Given the description of an element on the screen output the (x, y) to click on. 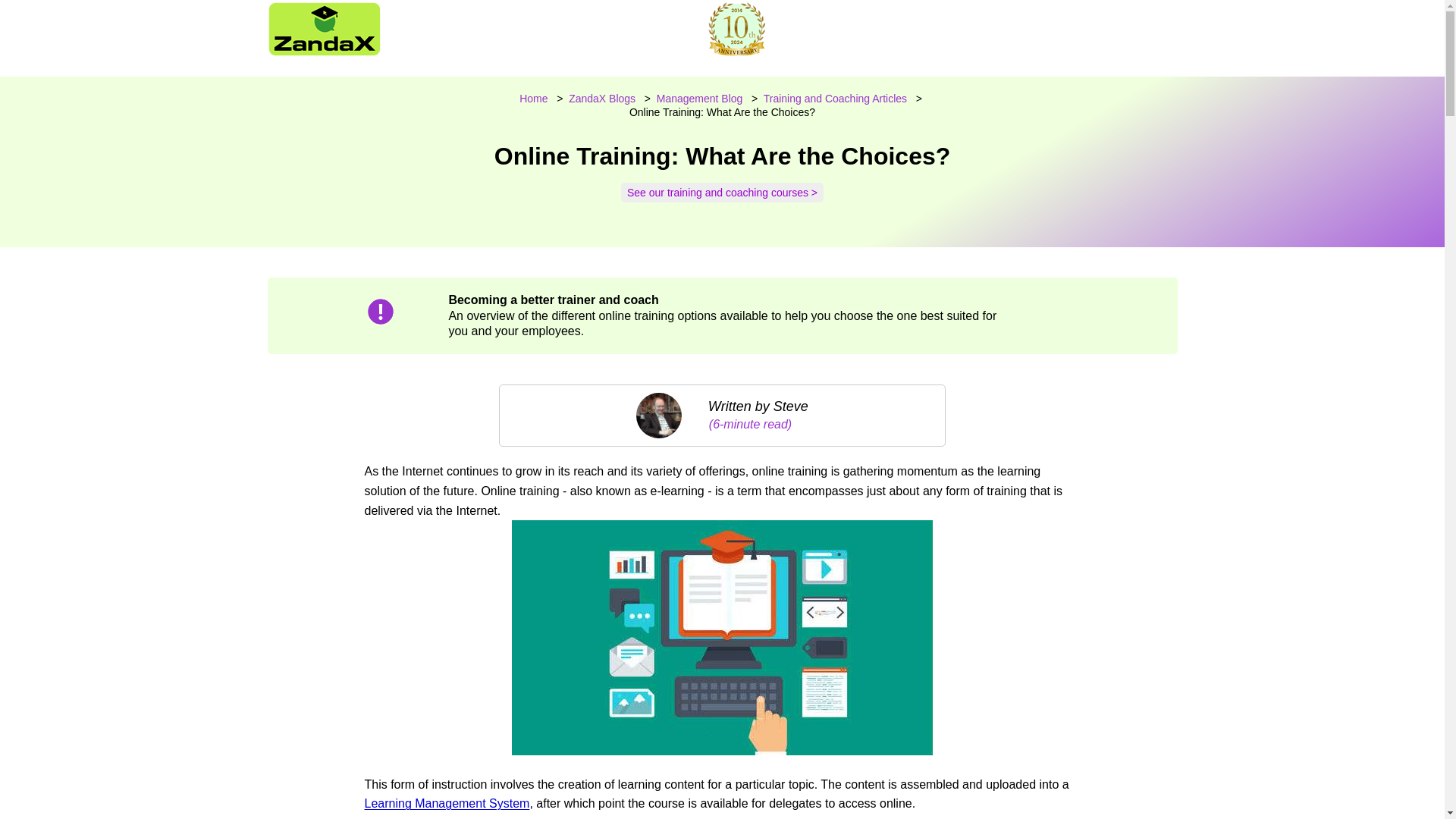
Management Blog (699, 98)
Training and Coaching Articles (834, 98)
Tips for your Learning Management System (446, 802)
Home (533, 98)
Learning Management System (446, 802)
ZandaX Blogs (601, 98)
